Given the description of an element on the screen output the (x, y) to click on. 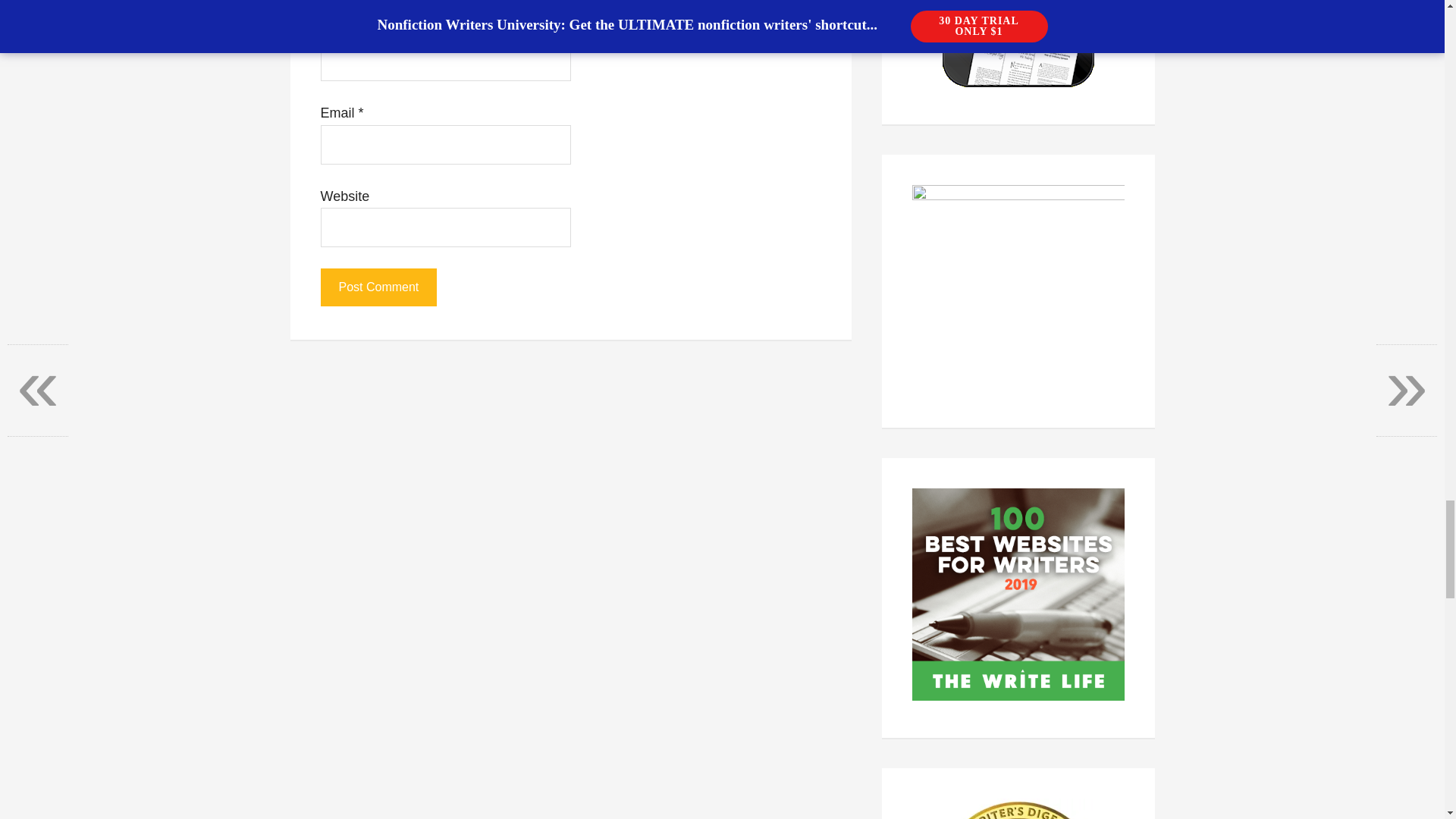
Post Comment (378, 287)
